Given the description of an element on the screen output the (x, y) to click on. 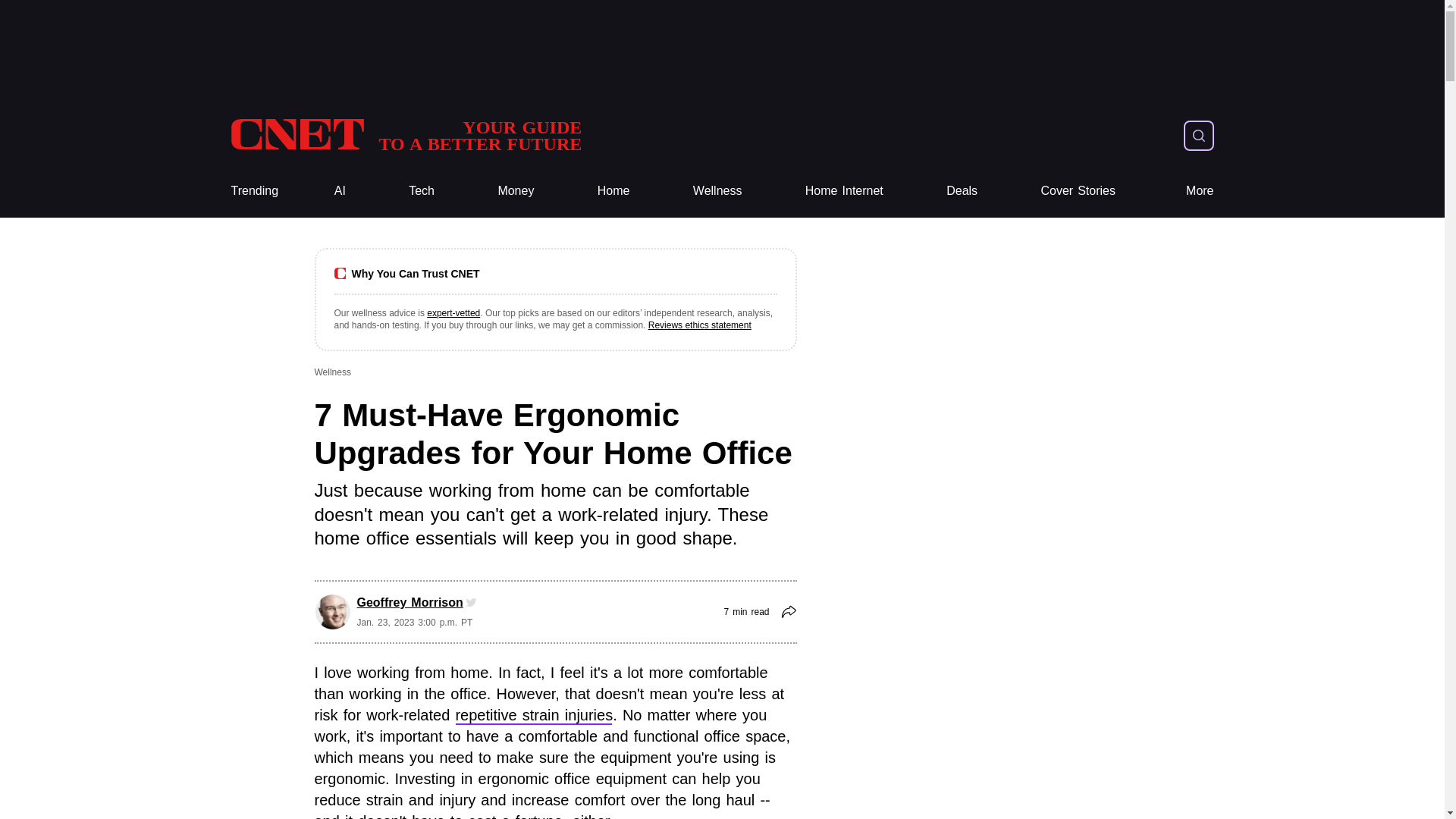
Trending (254, 190)
Wellness (717, 190)
Wellness (717, 190)
Money (405, 135)
Home (515, 190)
Tech (613, 190)
Deals (421, 190)
Home Internet (961, 190)
Home (844, 190)
Tech (613, 190)
CNET (421, 190)
Money (405, 135)
Home Internet (515, 190)
More (844, 190)
